Given the description of an element on the screen output the (x, y) to click on. 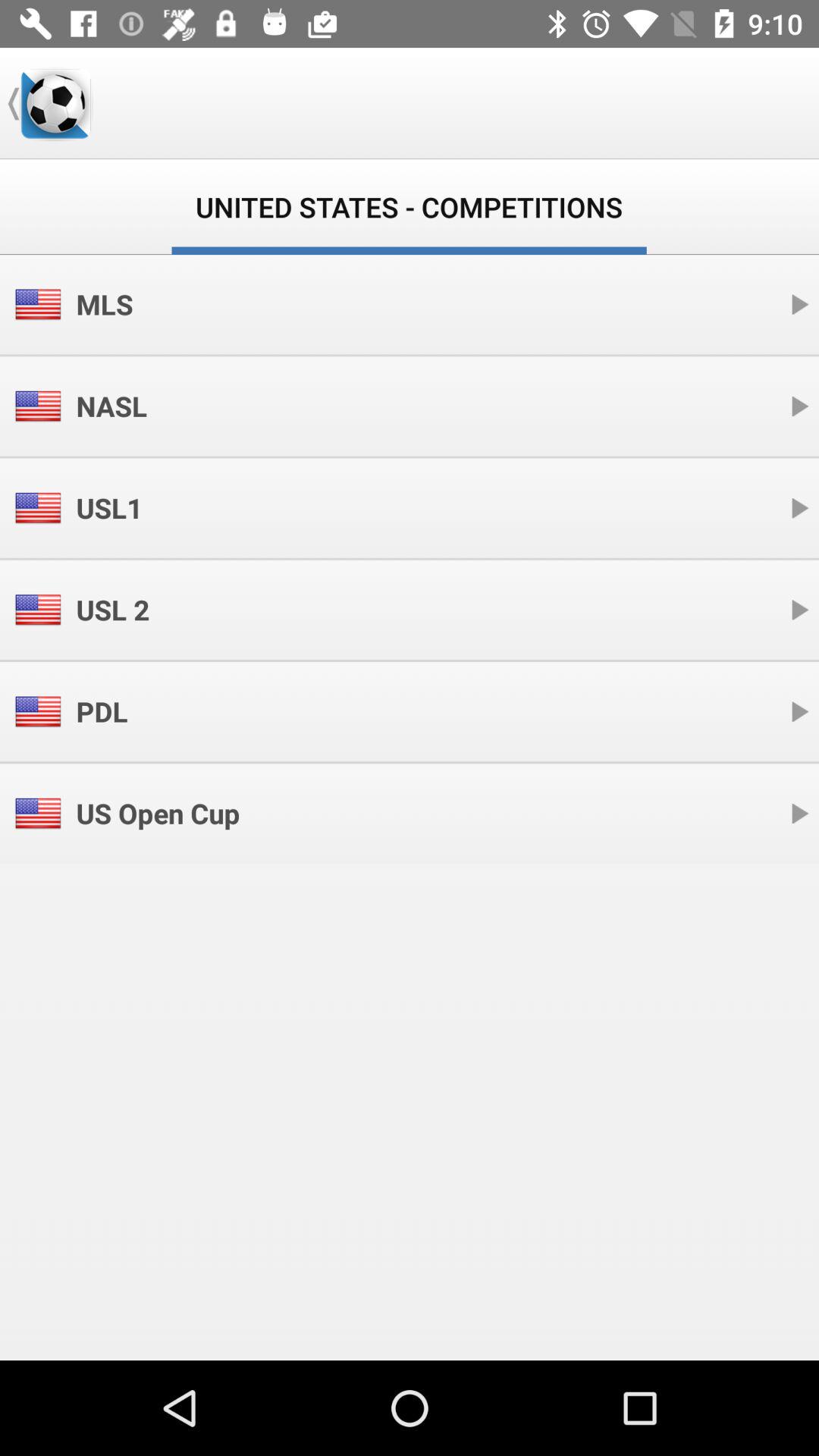
press the us open cup (158, 813)
